Given the description of an element on the screen output the (x, y) to click on. 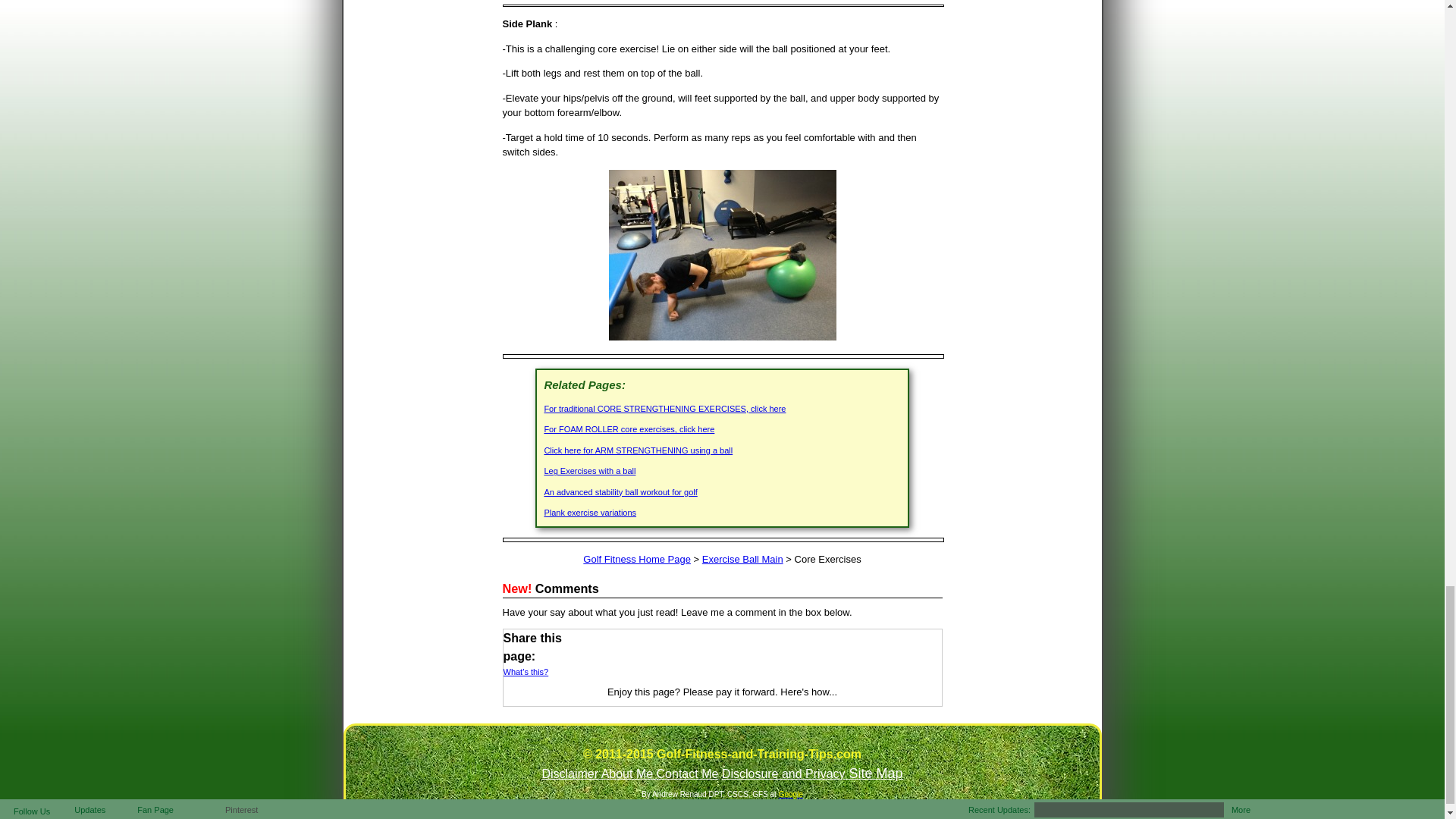
Exercise Ball Main (742, 559)
Side planks with exercise ball (721, 253)
Golf Fitness Home Page (636, 559)
An advanced stability ball workout for golf (620, 491)
For traditional CORE STRENGTHENING EXERCISES, click here (664, 408)
Leg Exercises with a ball (588, 470)
Click here for ARM STRENGTHENING using a ball (637, 450)
Plank exercise variations (589, 511)
For FOAM ROLLER core exercises, click here (628, 429)
